Given the description of an element on the screen output the (x, y) to click on. 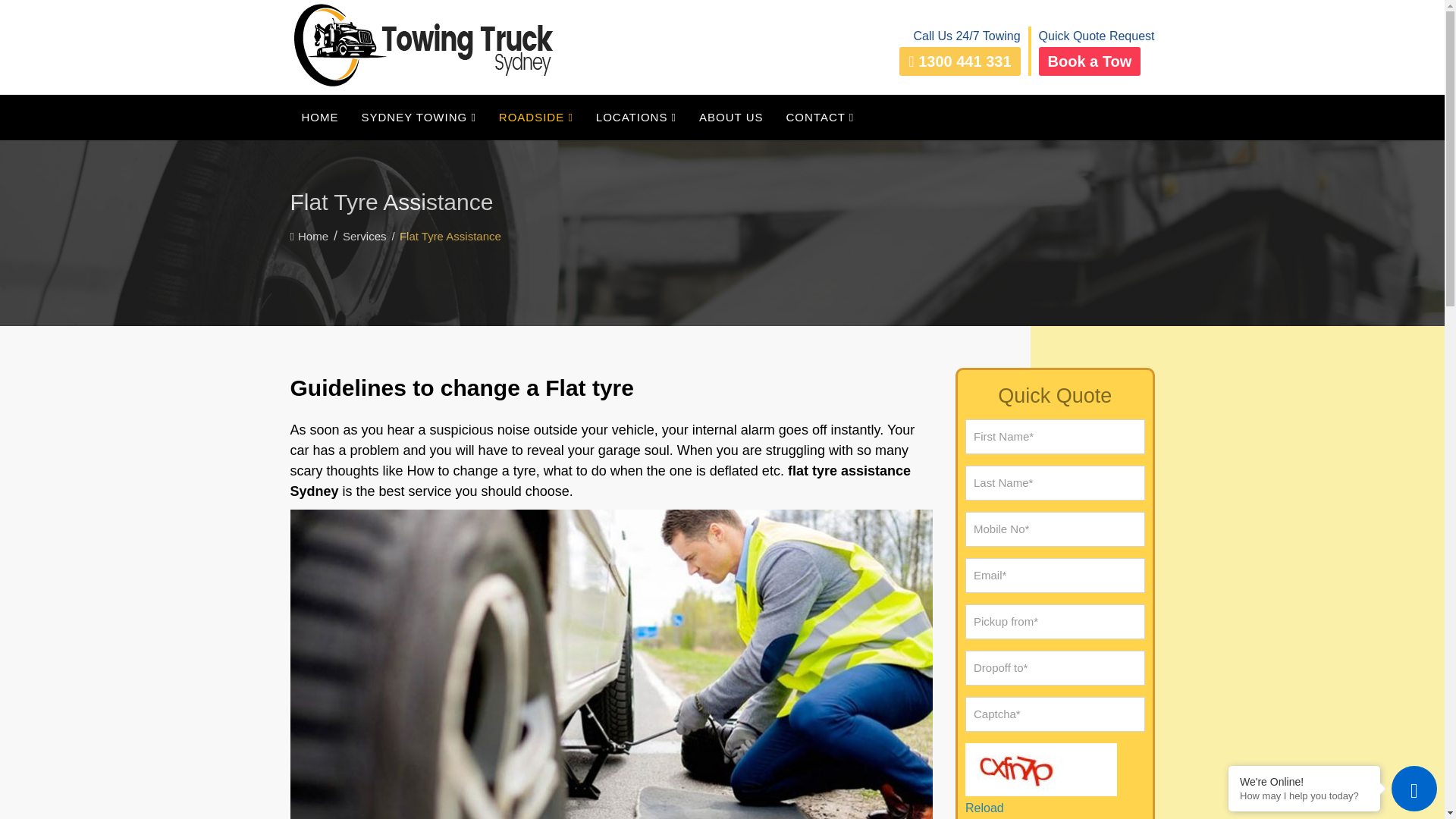
1300 441 331 (959, 61)
LOCATIONS (636, 115)
Sydney Towing (418, 115)
ABOUT US (730, 115)
Reload (984, 807)
SYDNEY TOWING (418, 115)
Roadside (536, 115)
1300 441 331 (959, 61)
Services (364, 236)
HOME (319, 115)
